Given the description of an element on the screen output the (x, y) to click on. 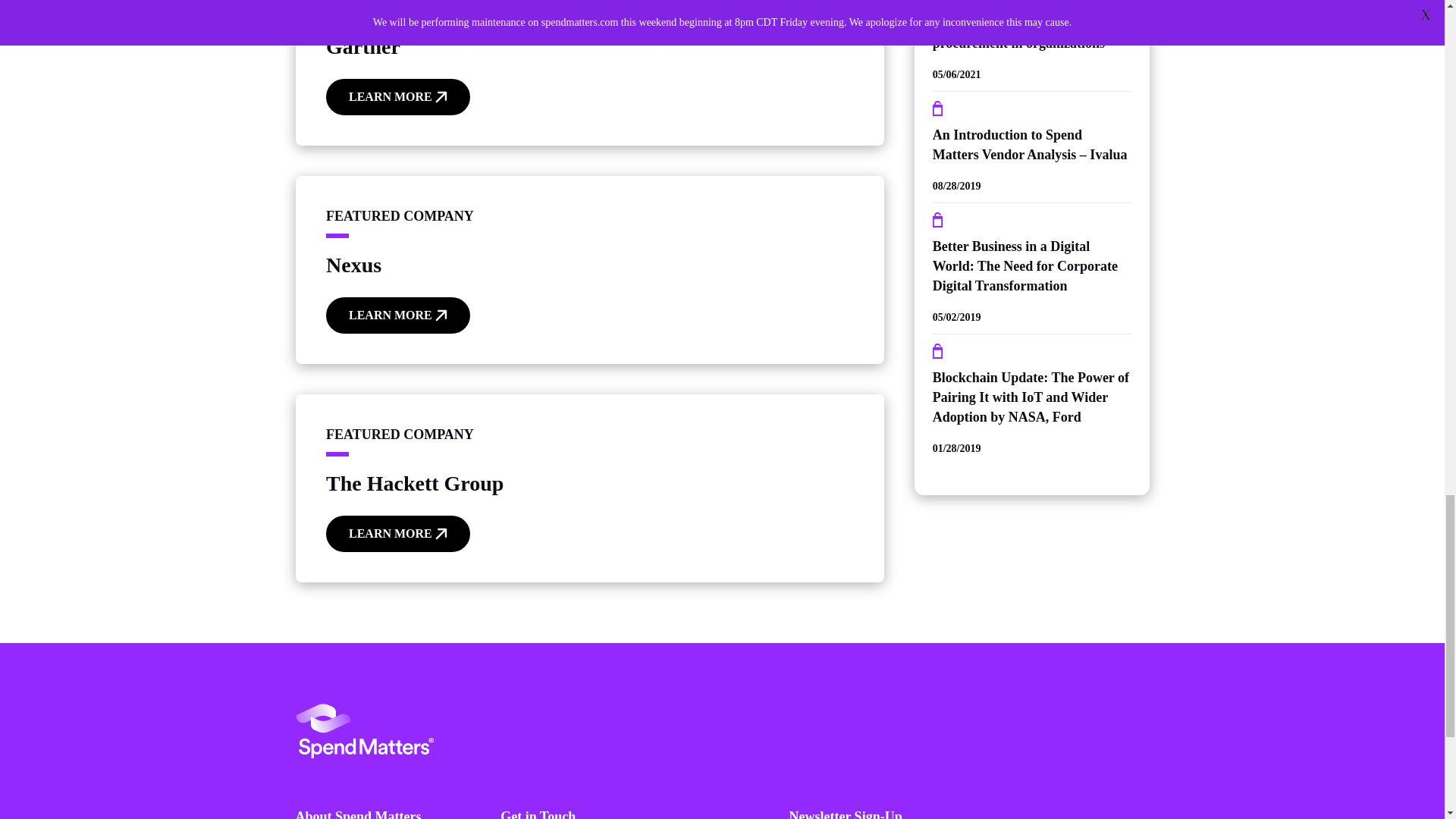
Spend Matters (364, 730)
